Given the description of an element on the screen output the (x, y) to click on. 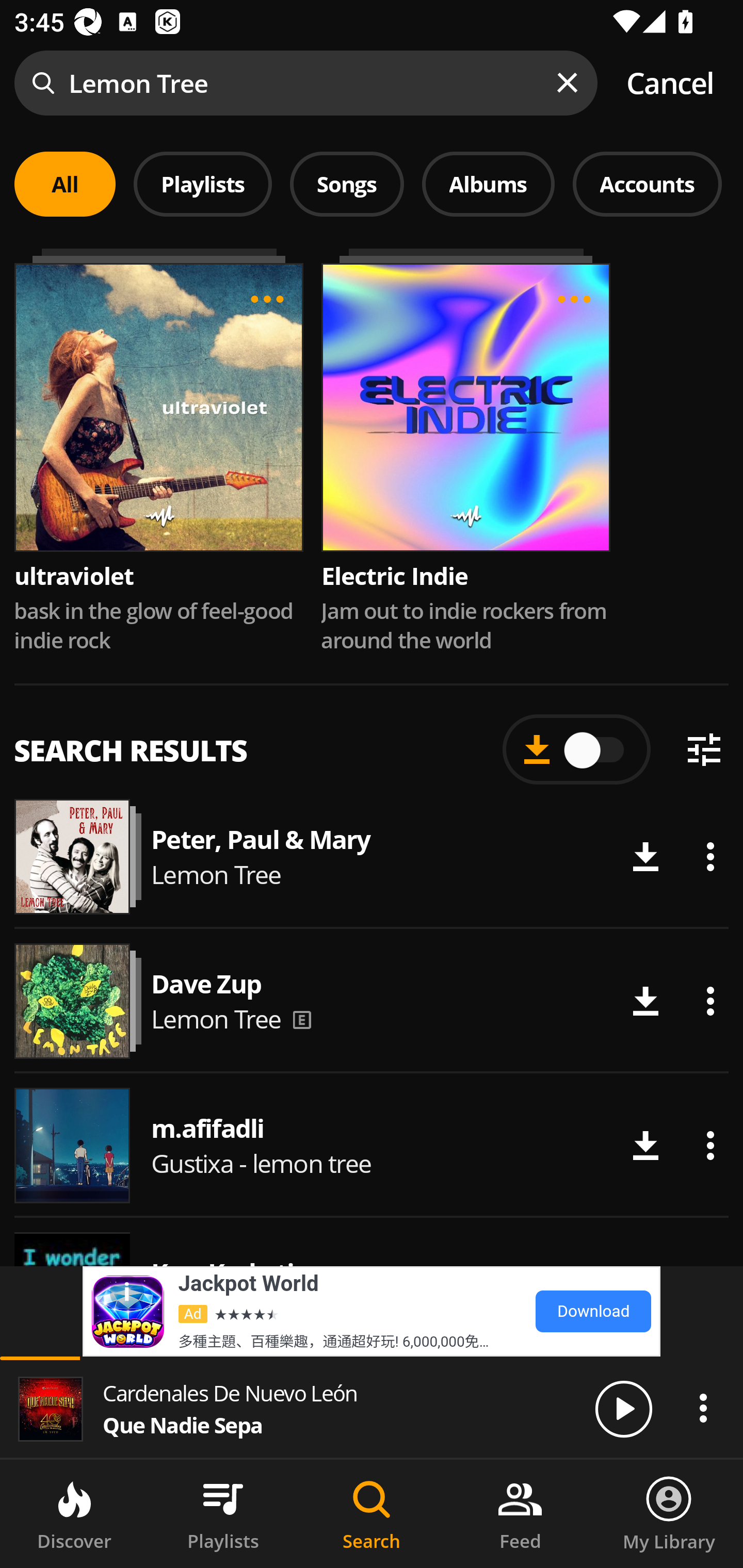
Lemon Tree Cancel (371, 82)
Cancel (670, 82)
All (64, 184)
Playlists (202, 184)
Songs (346, 184)
Albums (488, 184)
Accounts (647, 184)
Download (644, 856)
Actions (710, 856)
Download (644, 1001)
Actions (710, 1001)
Download (644, 1145)
Actions (710, 1145)
Download (644, 1289)
Actions (710, 1289)
Actions (703, 1407)
Play/Pause (623, 1408)
Discover (74, 1513)
Playlists (222, 1513)
Search (371, 1513)
Feed (519, 1513)
My Library (668, 1513)
